Given the description of an element on the screen output the (x, y) to click on. 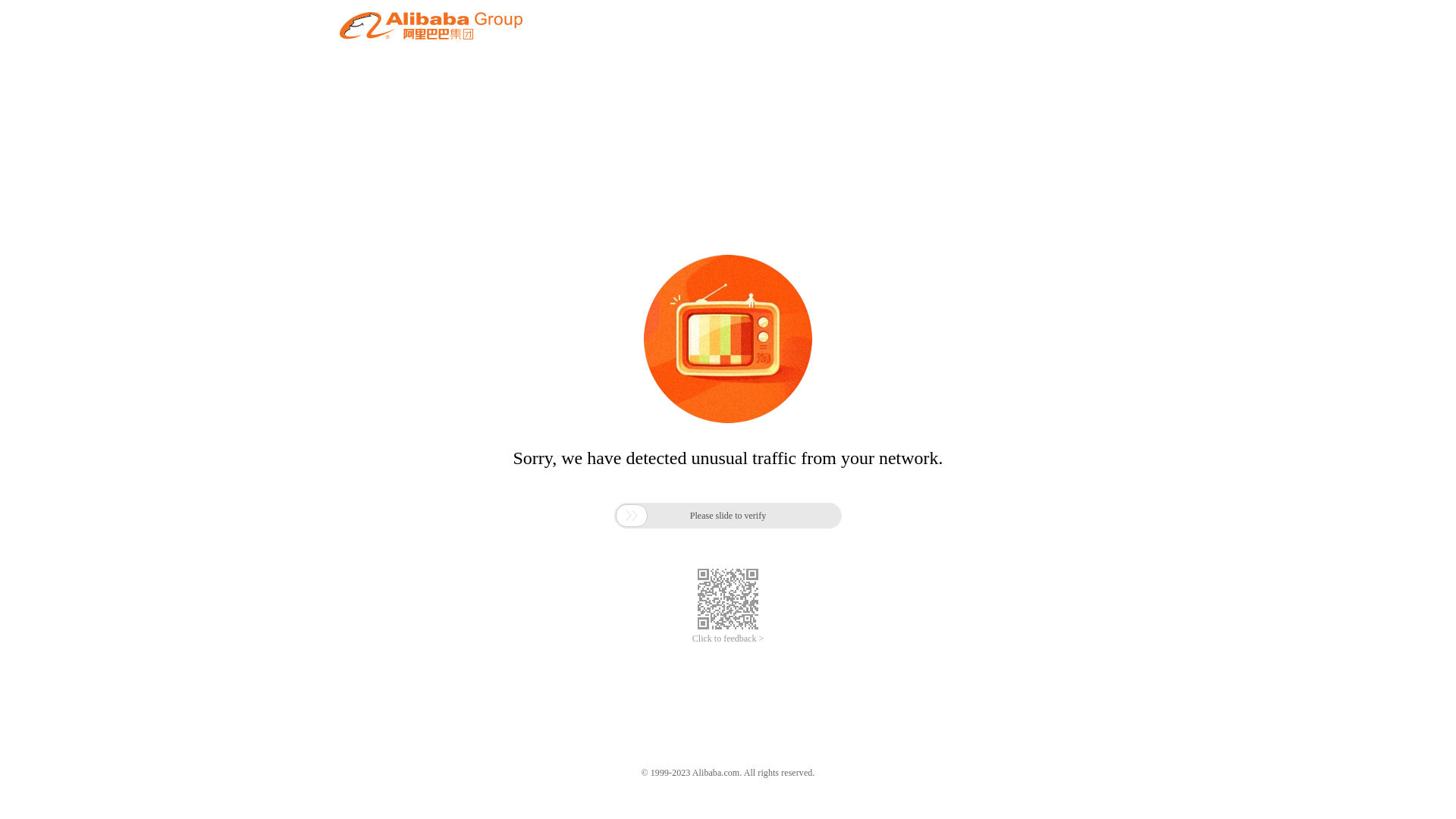
Click to feedback > Element type: text (727, 638)
